Given the description of an element on the screen output the (x, y) to click on. 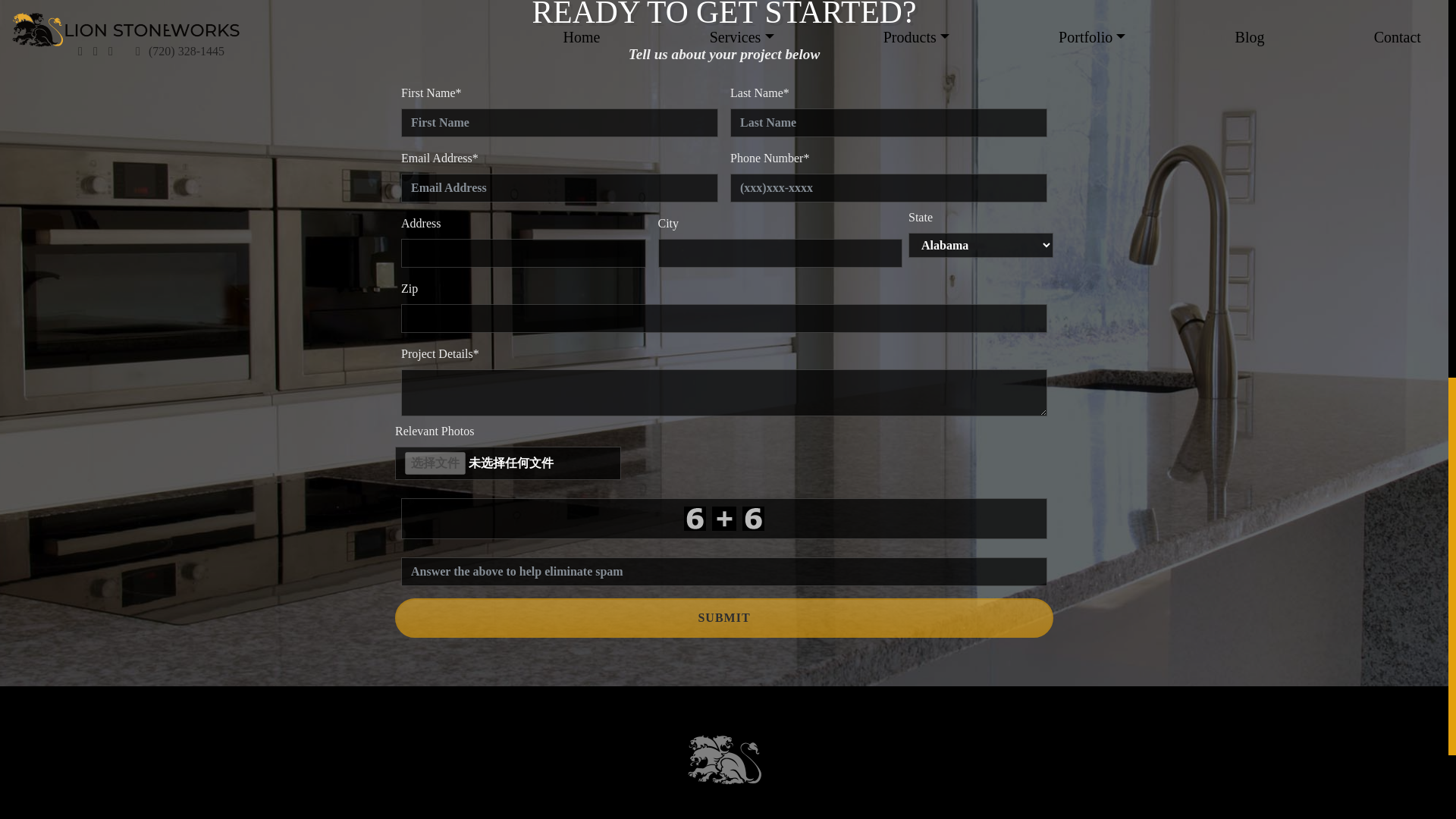
SUBMIT (723, 618)
